Given the description of an element on the screen output the (x, y) to click on. 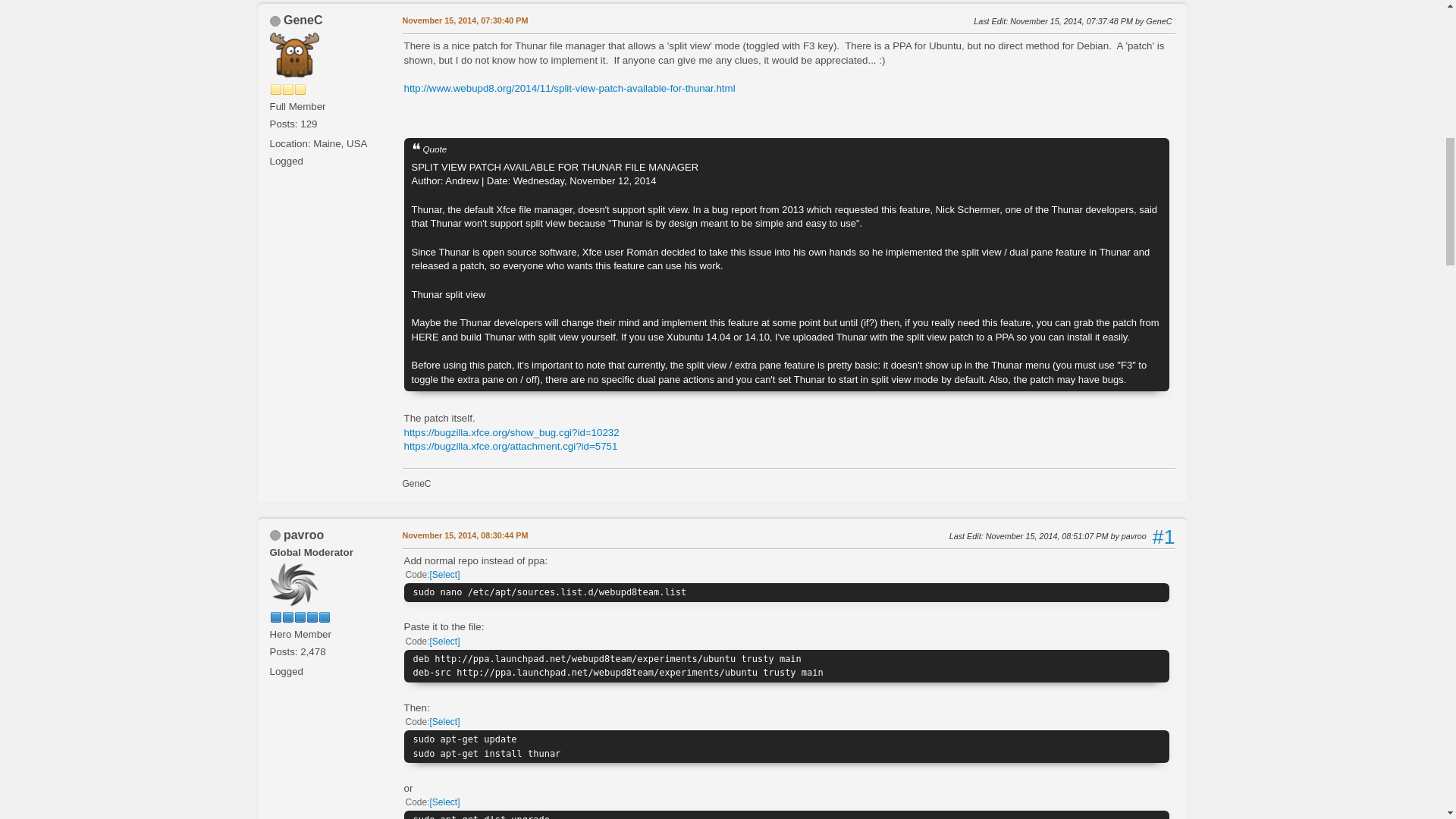
November 15, 2014, 08:30:44 PM (464, 535)
View the profile of GeneC (303, 19)
pavroo (303, 534)
Select (444, 721)
Select (444, 641)
November 15, 2014, 07:30:40 PM (464, 20)
View the profile of pavroo (303, 534)
Select (444, 574)
Select (444, 801)
Offline (275, 534)
How to install Thunar "Split view Patch'..? (464, 20)
GeneC (303, 19)
Offline (275, 20)
